Given the description of an element on the screen output the (x, y) to click on. 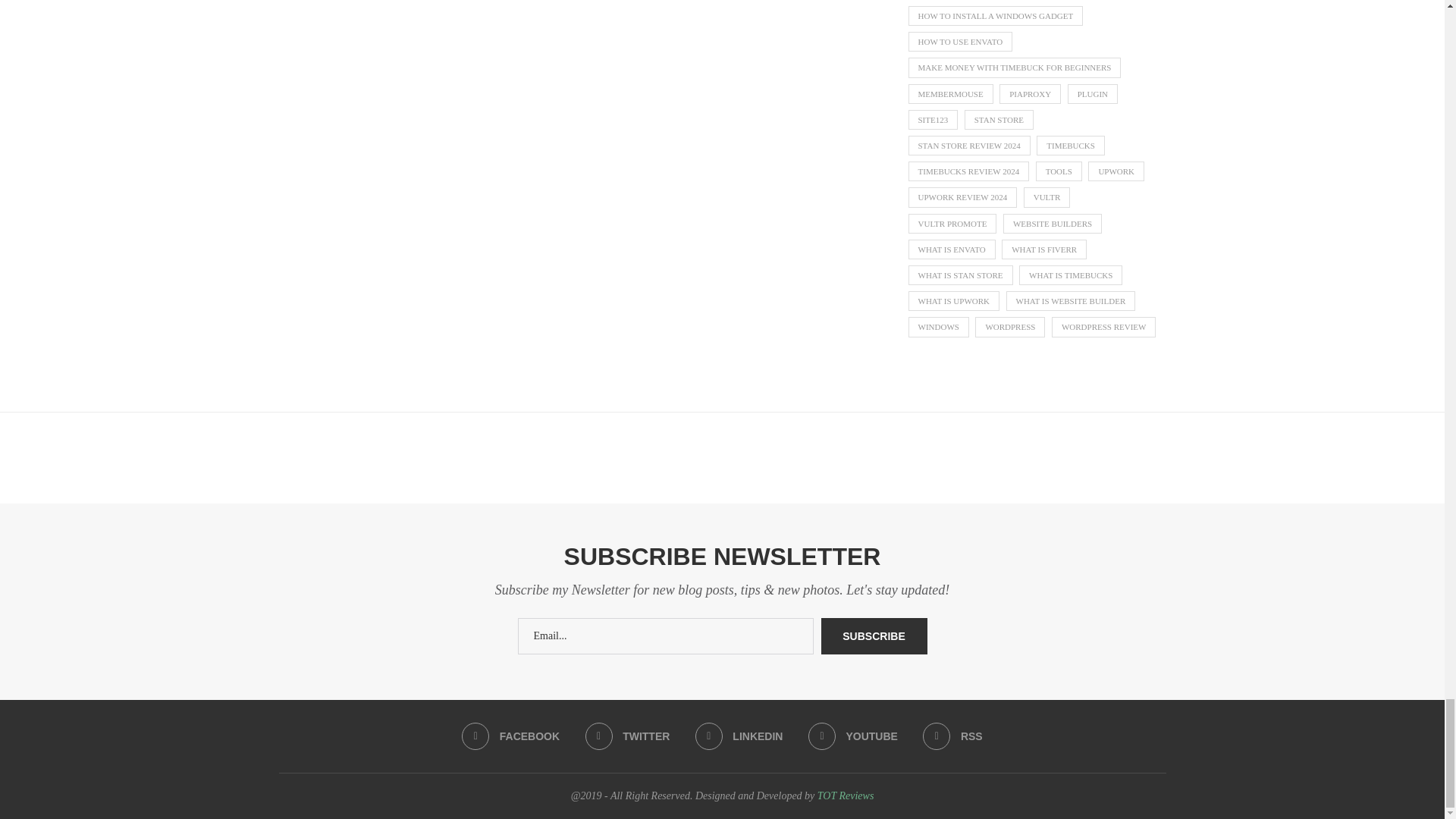
Subscribe (873, 636)
